Given the description of an element on the screen output the (x, y) to click on. 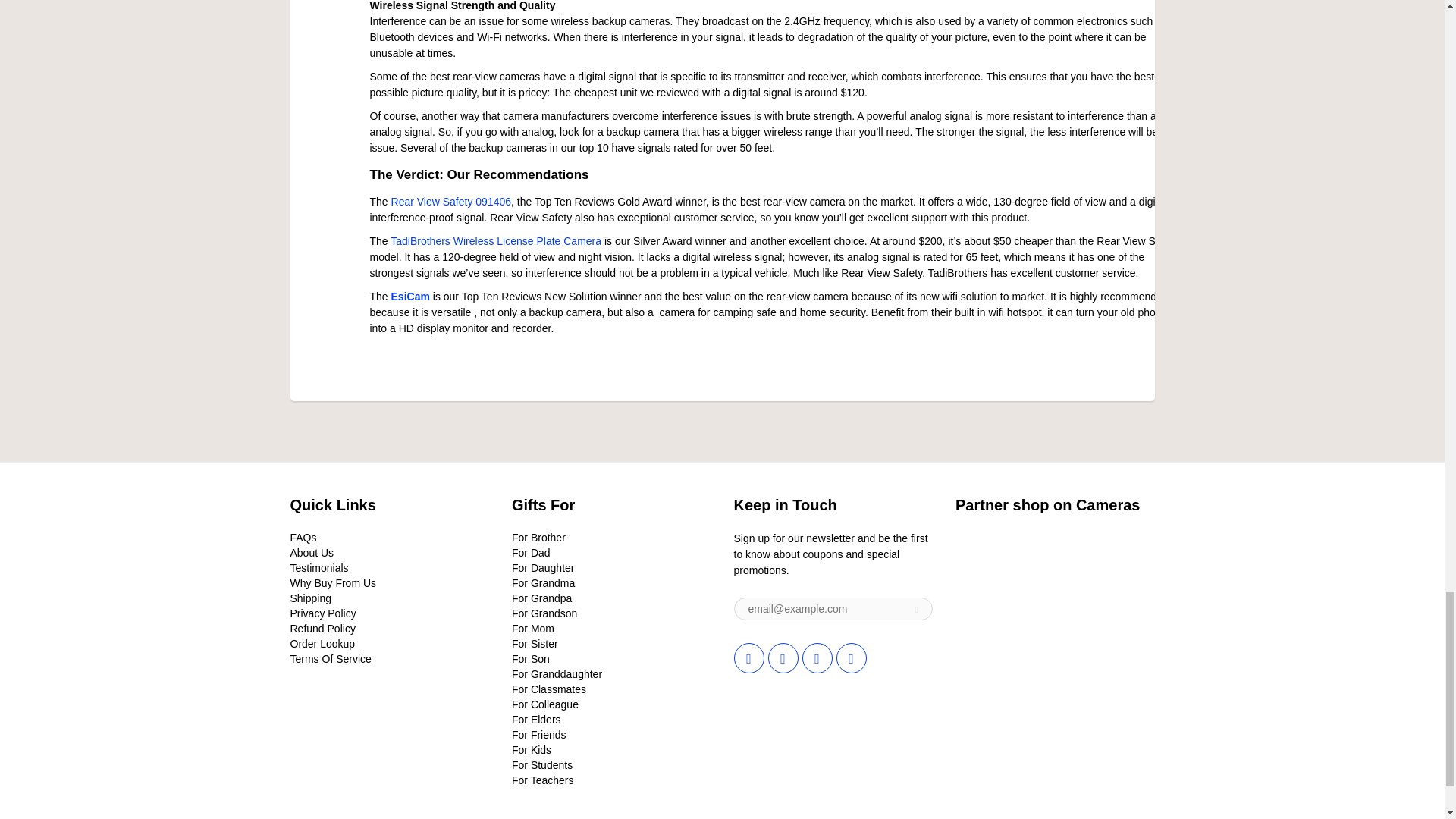
Twitter (748, 657)
YouTube (850, 657)
Pinterest (817, 657)
Facebook (782, 657)
